Given the description of an element on the screen output the (x, y) to click on. 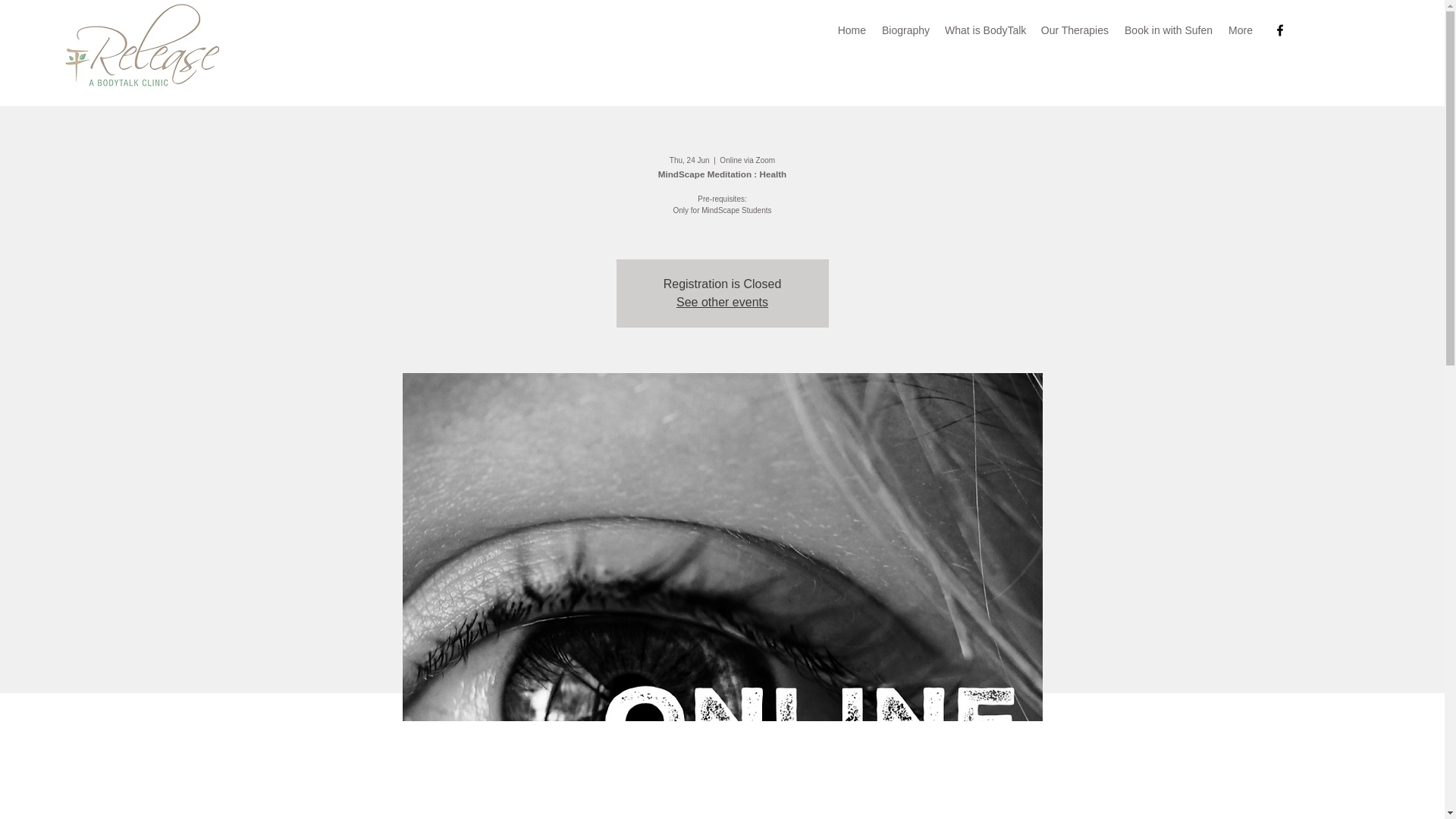
What is BodyTalk (984, 29)
Our Therapies (1074, 29)
See other events (722, 301)
Home (851, 29)
Book in with Sufen (1168, 29)
Biography (905, 29)
